Given the description of an element on the screen output the (x, y) to click on. 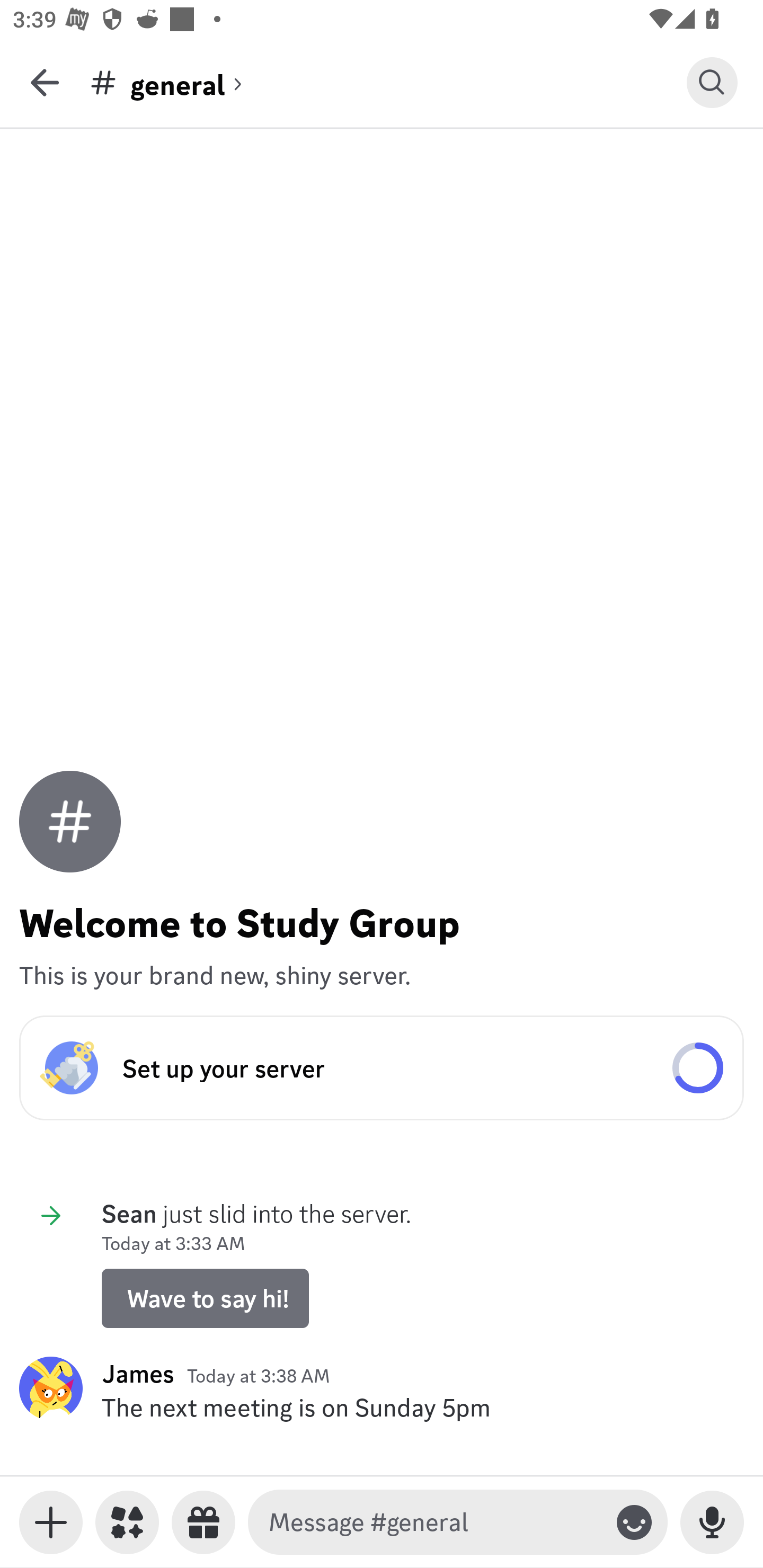
general (channel) general general (channel) (387, 82)
Back (44, 82)
Search (711, 82)
Set up your server (381, 1068)
Wave to say hi! (205, 1298)
James (137, 1373)
Toggle media keyboard (50, 1522)
Apps (126, 1522)
Send a gift (203, 1522)
Record Voice Message (711, 1522)
Message #general (433, 1522)
Toggle emoji keyboard (634, 1522)
